Given the description of an element on the screen output the (x, y) to click on. 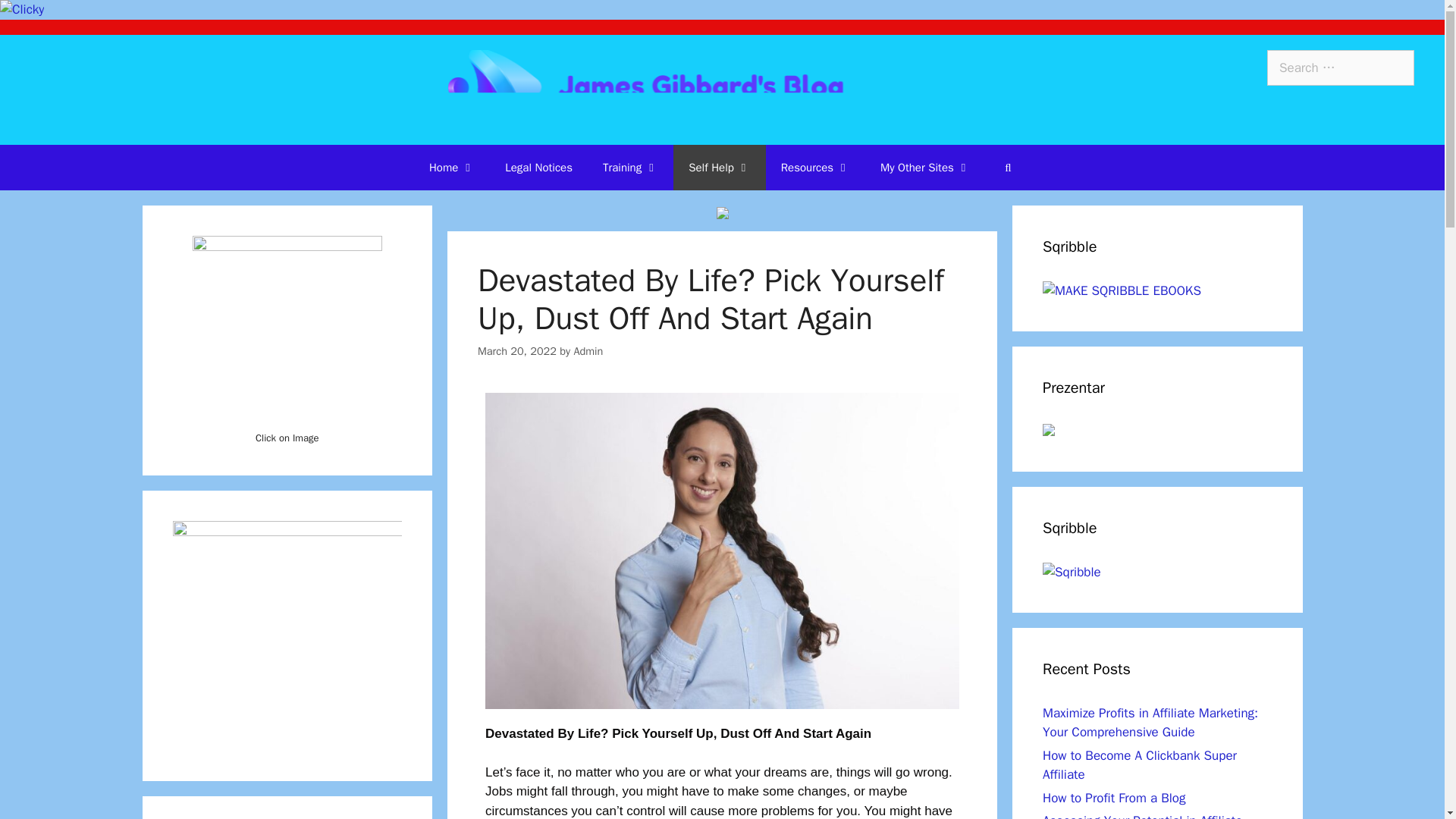
Search (35, 18)
Legal Notices (538, 167)
Self Help (718, 167)
Training (630, 167)
Home (451, 167)
Sqribble (1071, 572)
View all posts by Admin (587, 350)
Search for: (1339, 67)
Privacy-friendly Web Analytics (21, 9)
